Given the description of an element on the screen output the (x, y) to click on. 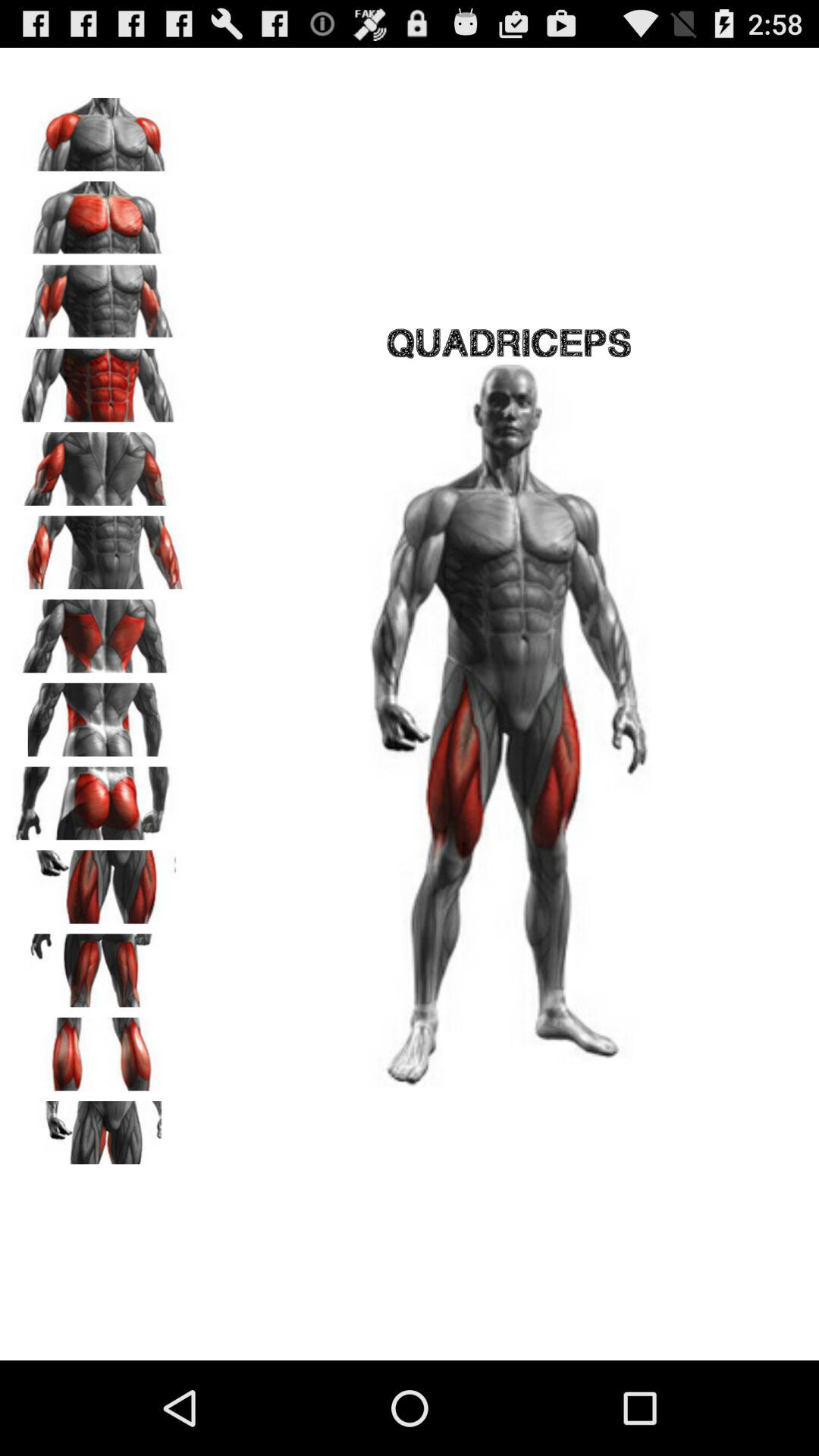
quadriceps selection (99, 881)
